Given the description of an element on the screen output the (x, y) to click on. 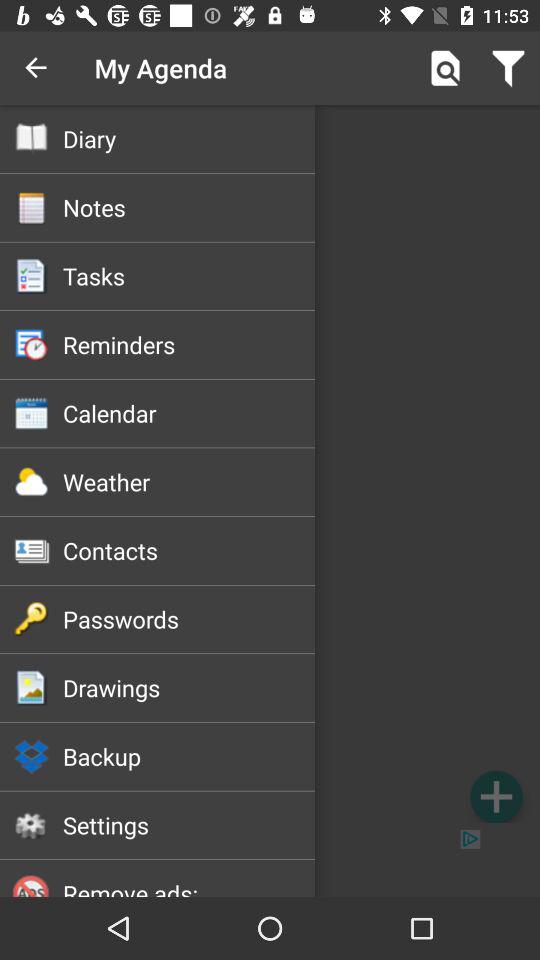
advance to more settings (496, 796)
